Given the description of an element on the screen output the (x, y) to click on. 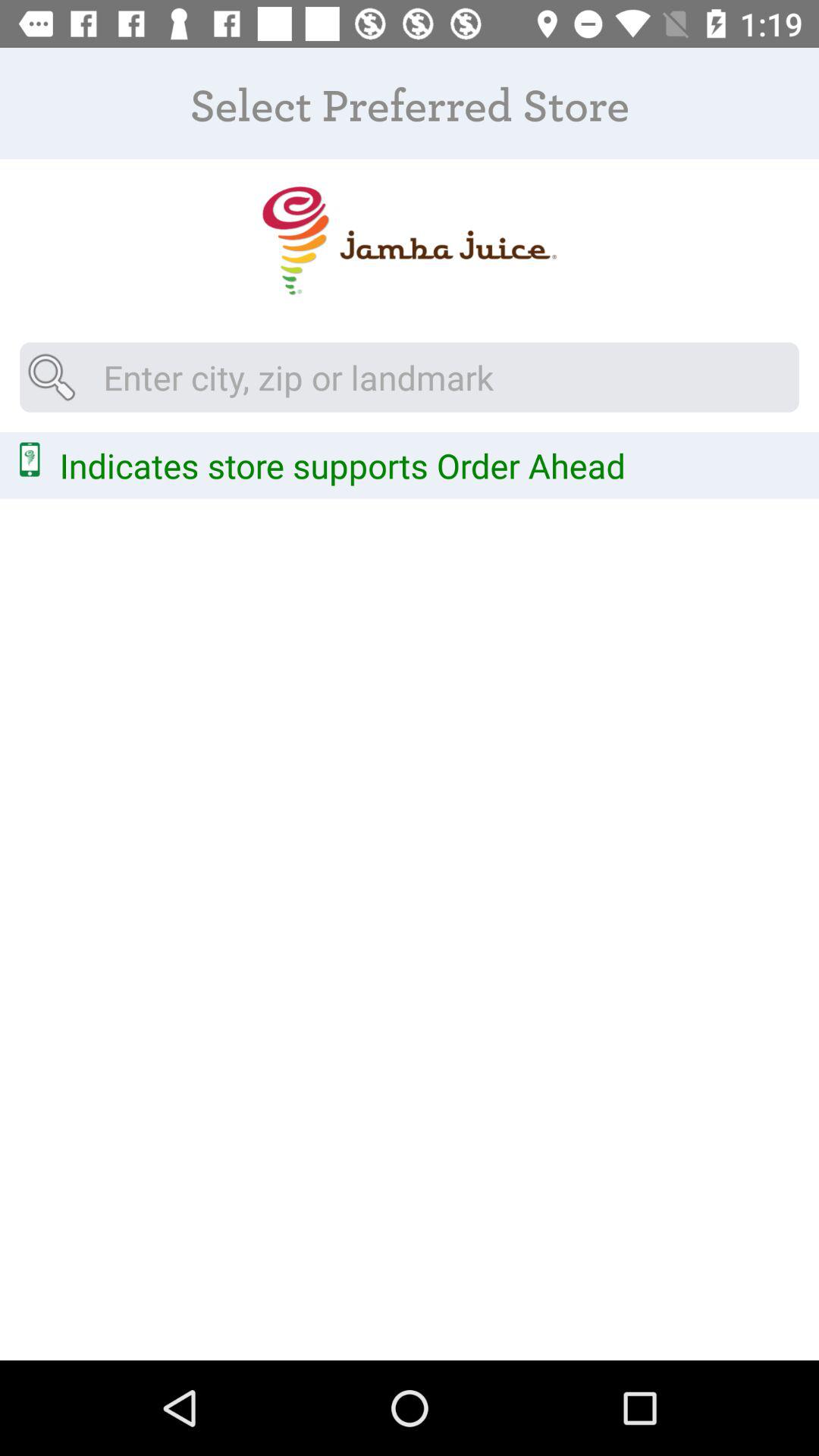
search city zip or landmark (409, 377)
